Given the description of an element on the screen output the (x, y) to click on. 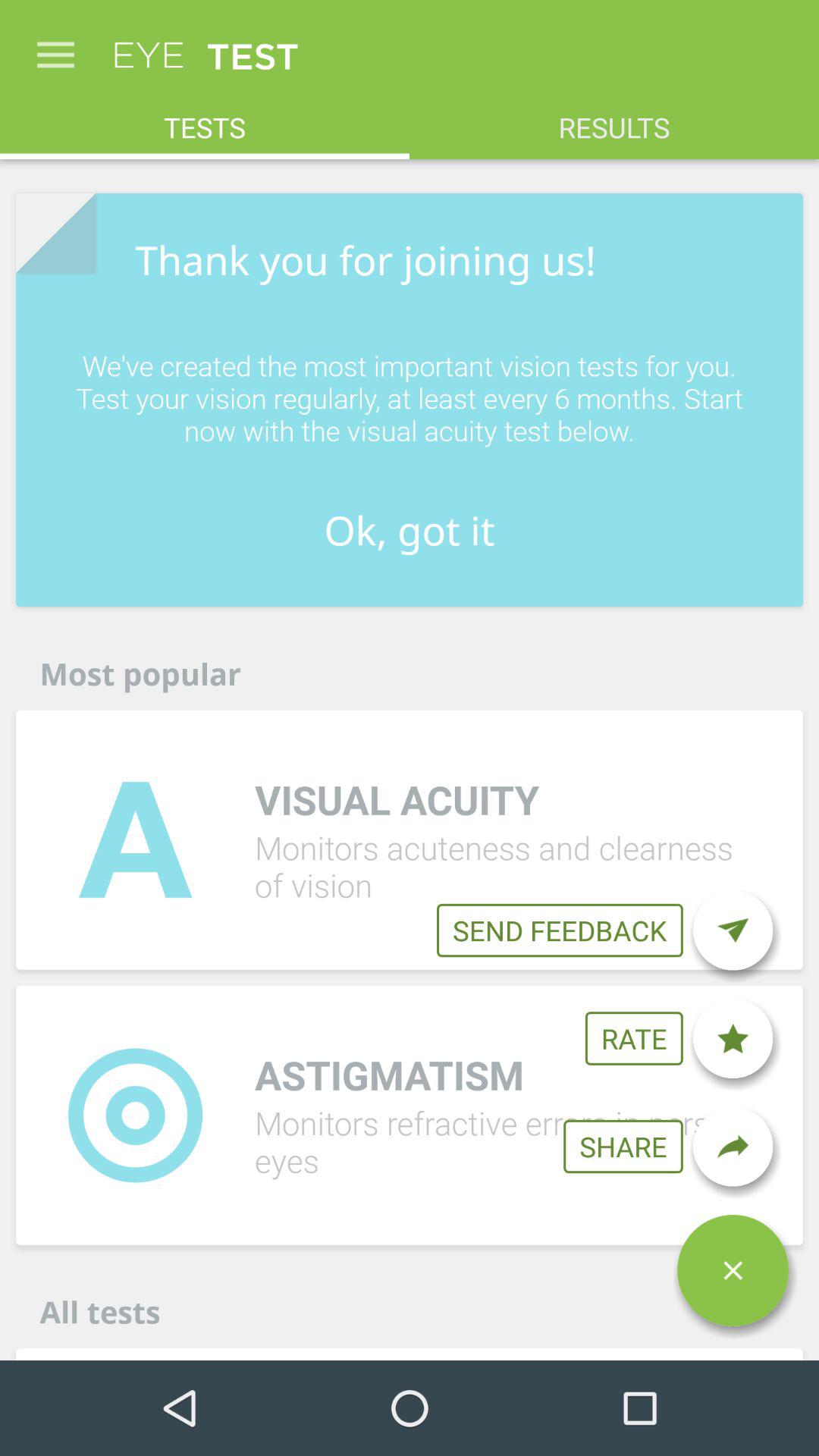
share to social media (733, 1146)
